Given the description of an element on the screen output the (x, y) to click on. 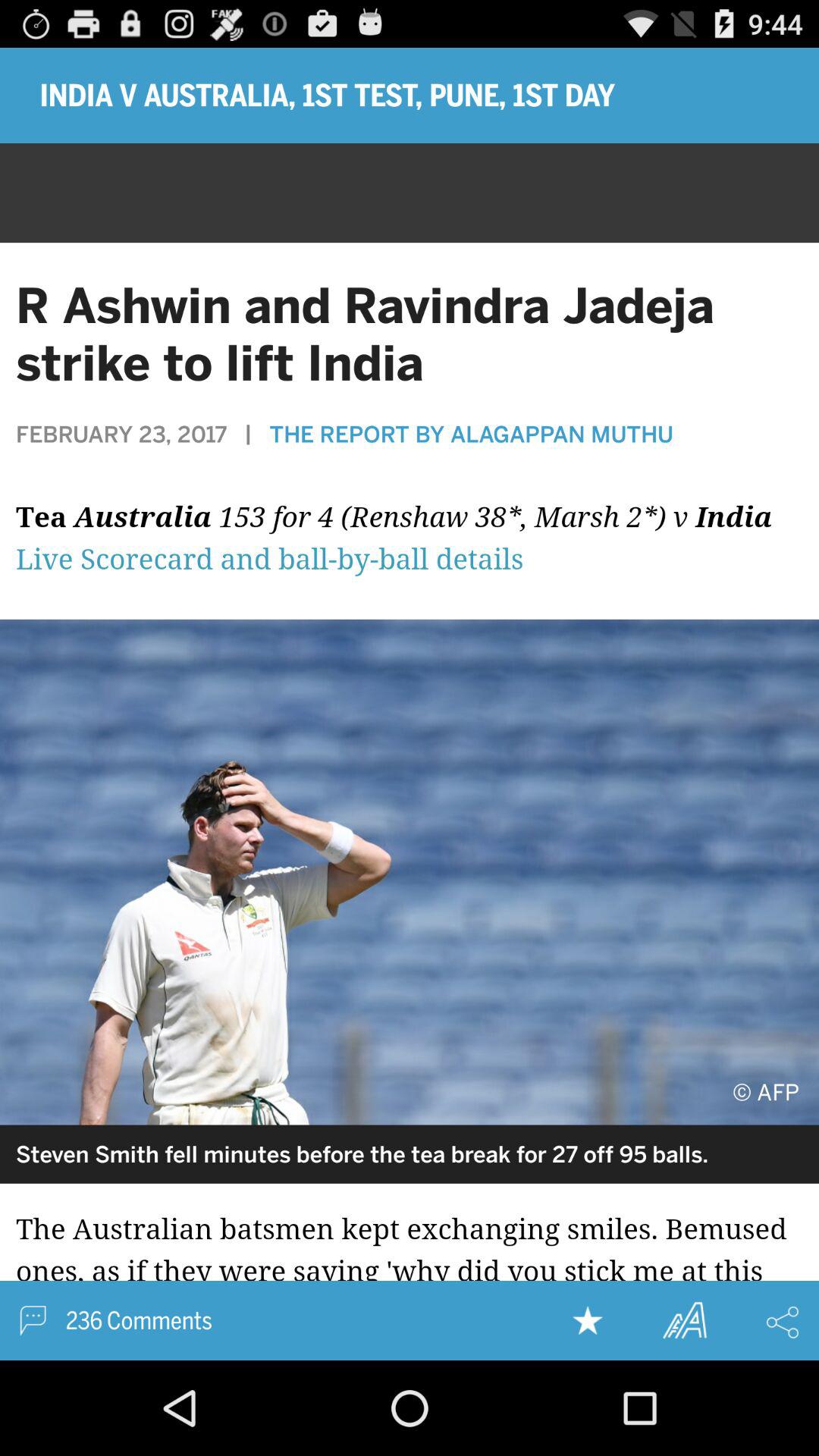
look at comments (409, 1271)
